Given the description of an element on the screen output the (x, y) to click on. 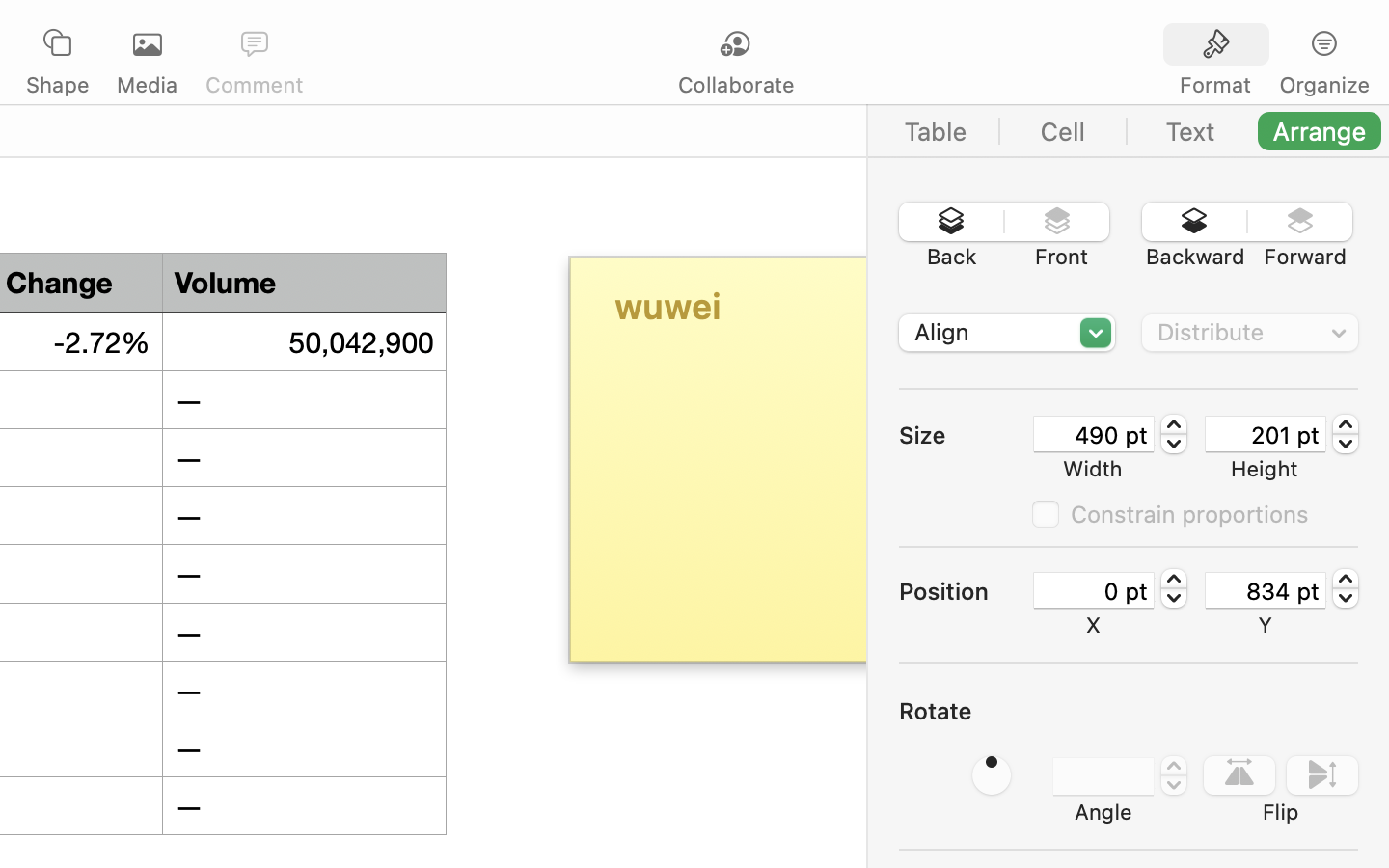
<AXUIElement 0x154ee0b90> {pid=1420} Element type: AXGroup (1270, 45)
X Element type: AXStaticText (1093, 624)
Media Element type: AXStaticText (146, 84)
0.0 Element type: AXIncrementor (1173, 588)
